Given the description of an element on the screen output the (x, y) to click on. 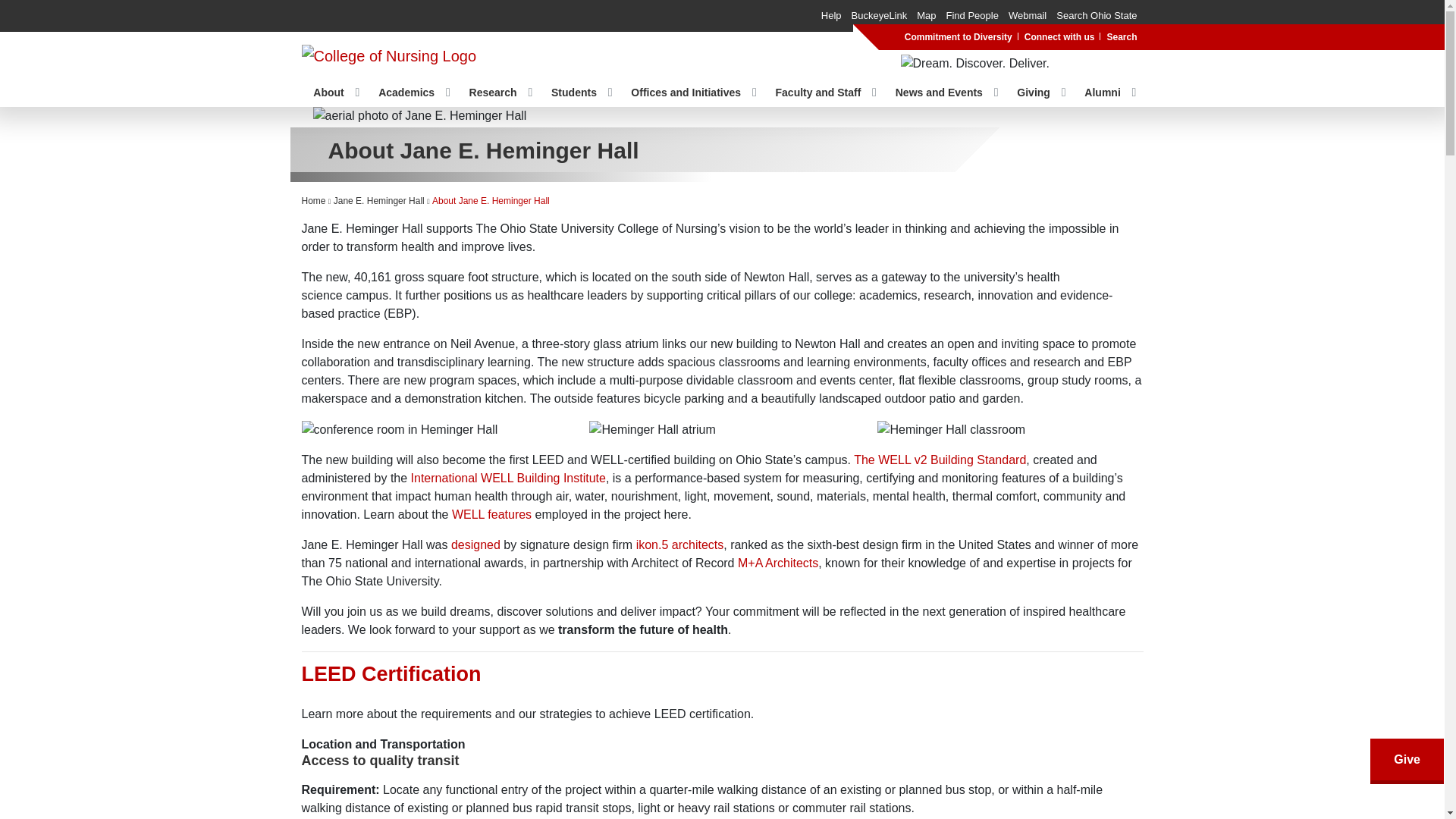
Academics (405, 92)
Help (831, 15)
Map (926, 15)
Search (1121, 36)
Webmail (1027, 15)
Find People (972, 15)
About (328, 92)
BuckeyeLink (879, 15)
Search Ohio State (1097, 15)
